Given the description of an element on the screen output the (x, y) to click on. 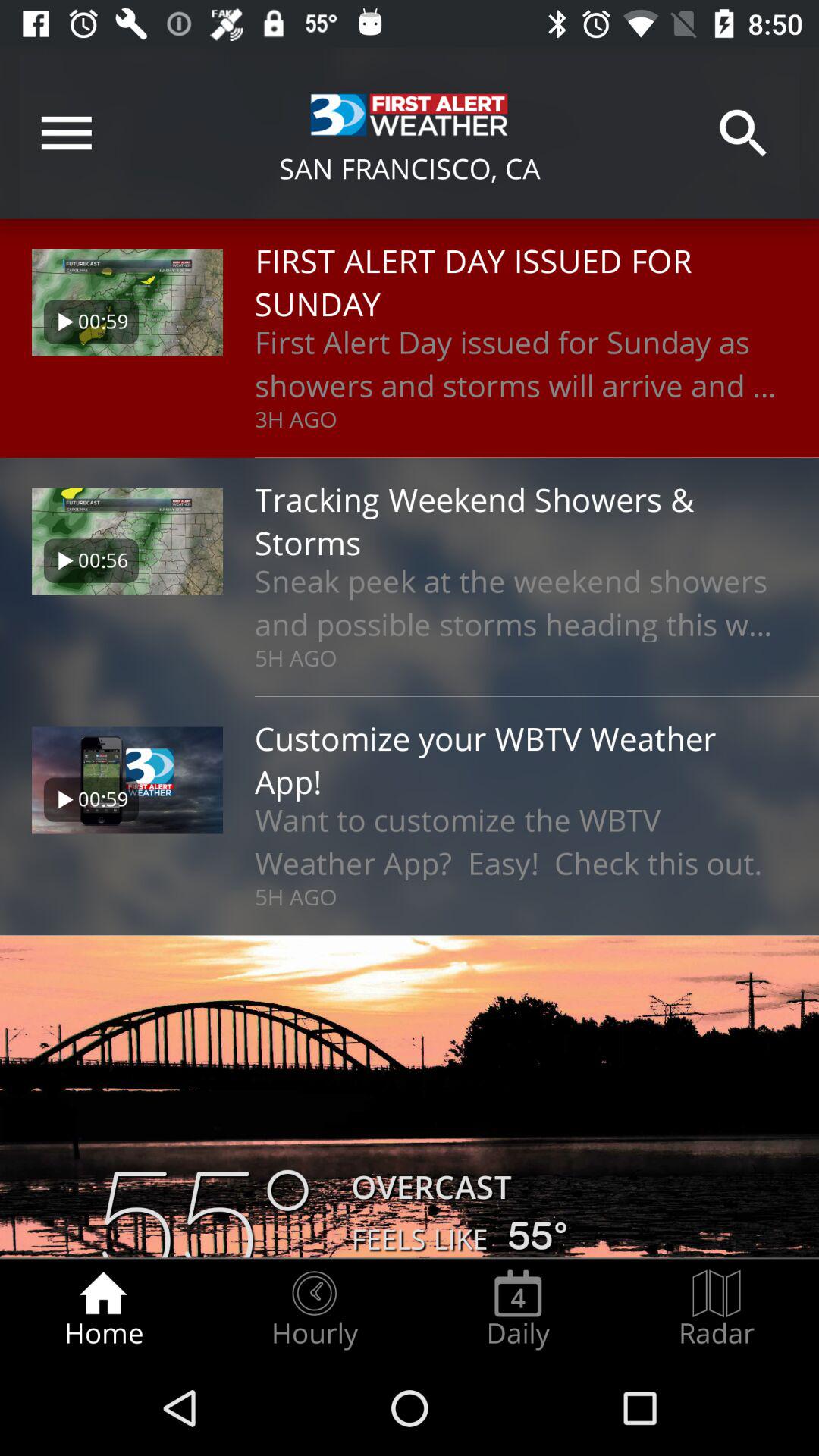
choose icon next to the radar (518, 1309)
